Given the description of an element on the screen output the (x, y) to click on. 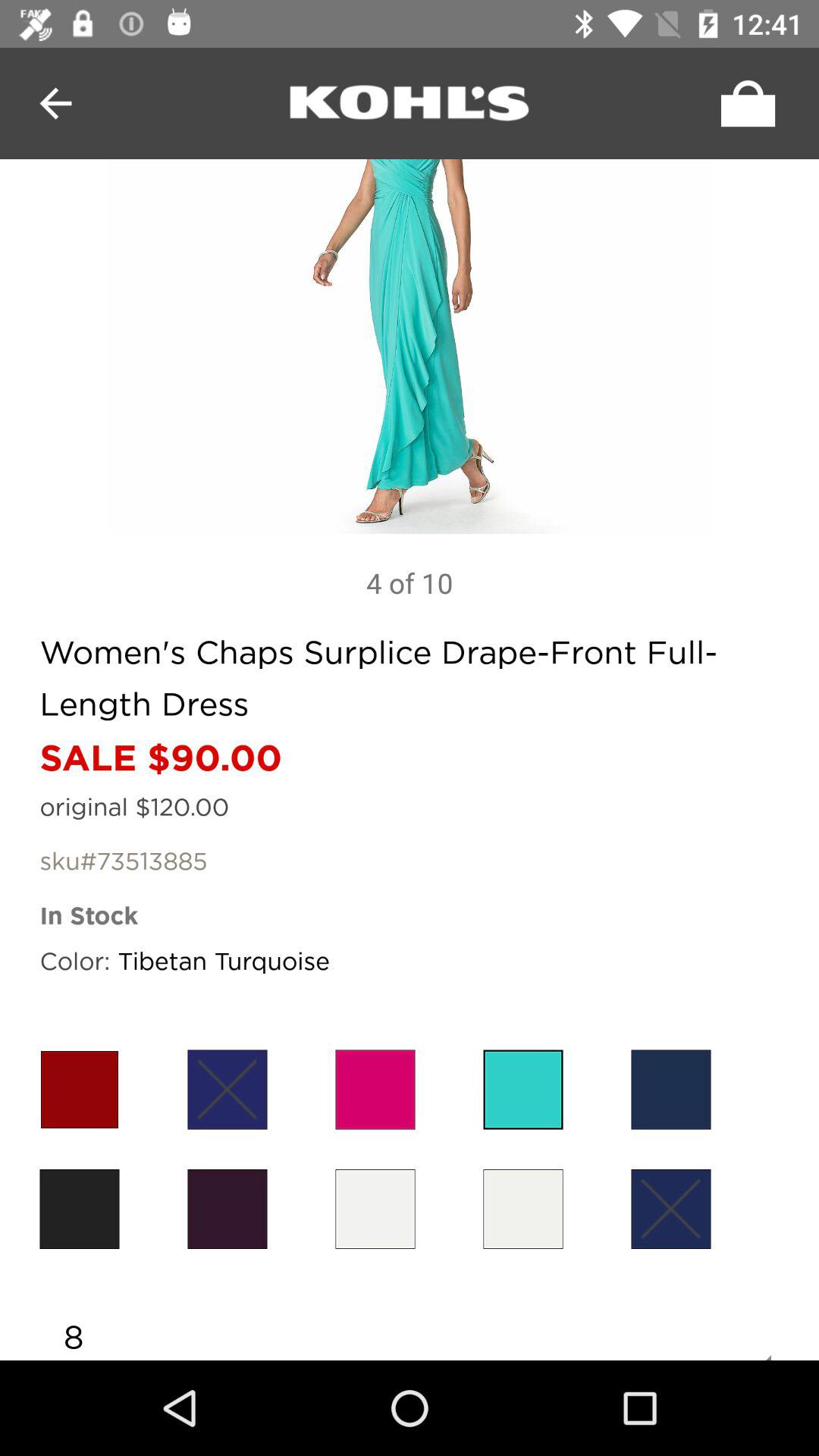
add to cart (744, 103)
